Given the description of an element on the screen output the (x, y) to click on. 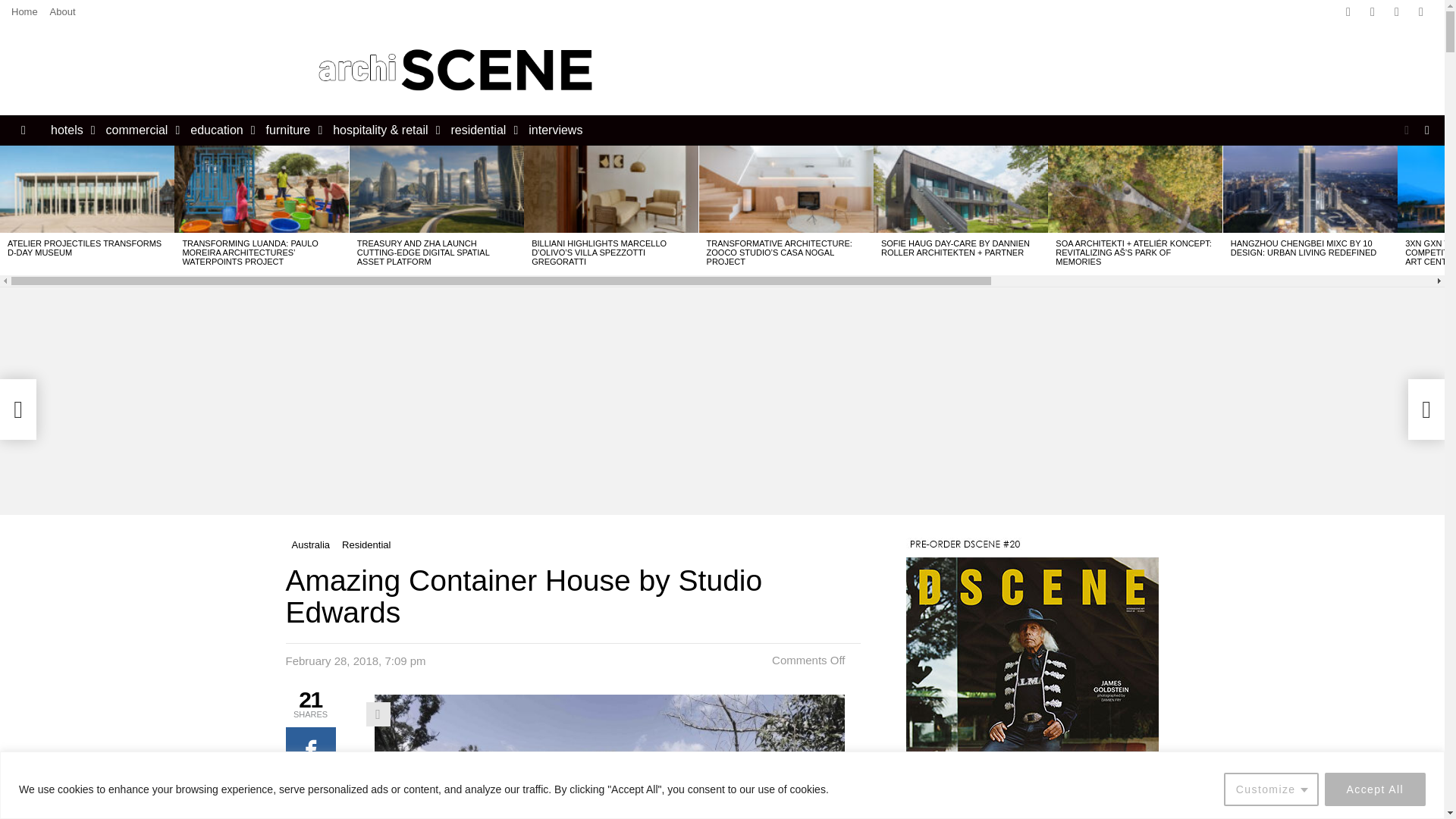
instagram (1396, 11)
pinterest (1420, 11)
Advertisement (917, 70)
Menu (22, 130)
commercial (139, 129)
Twitter (1371, 11)
hotels (69, 129)
Home (24, 12)
About (62, 12)
Accept All (1374, 788)
education (218, 129)
Facebook (1347, 11)
Customize (1271, 788)
